Given the description of an element on the screen output the (x, y) to click on. 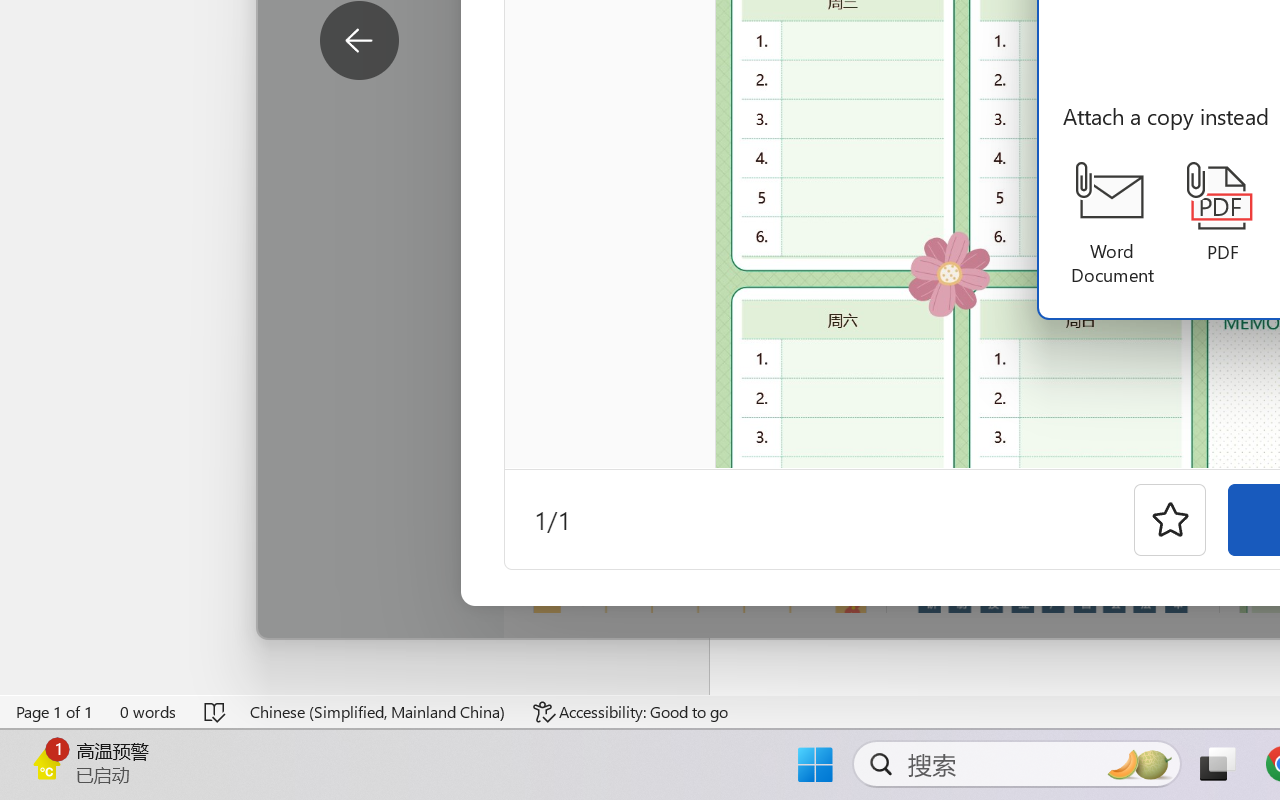
Word Document (1112, 224)
PDF (1222, 213)
Language Chinese (Simplified, Mainland China) (378, 712)
